Given the description of an element on the screen output the (x, y) to click on. 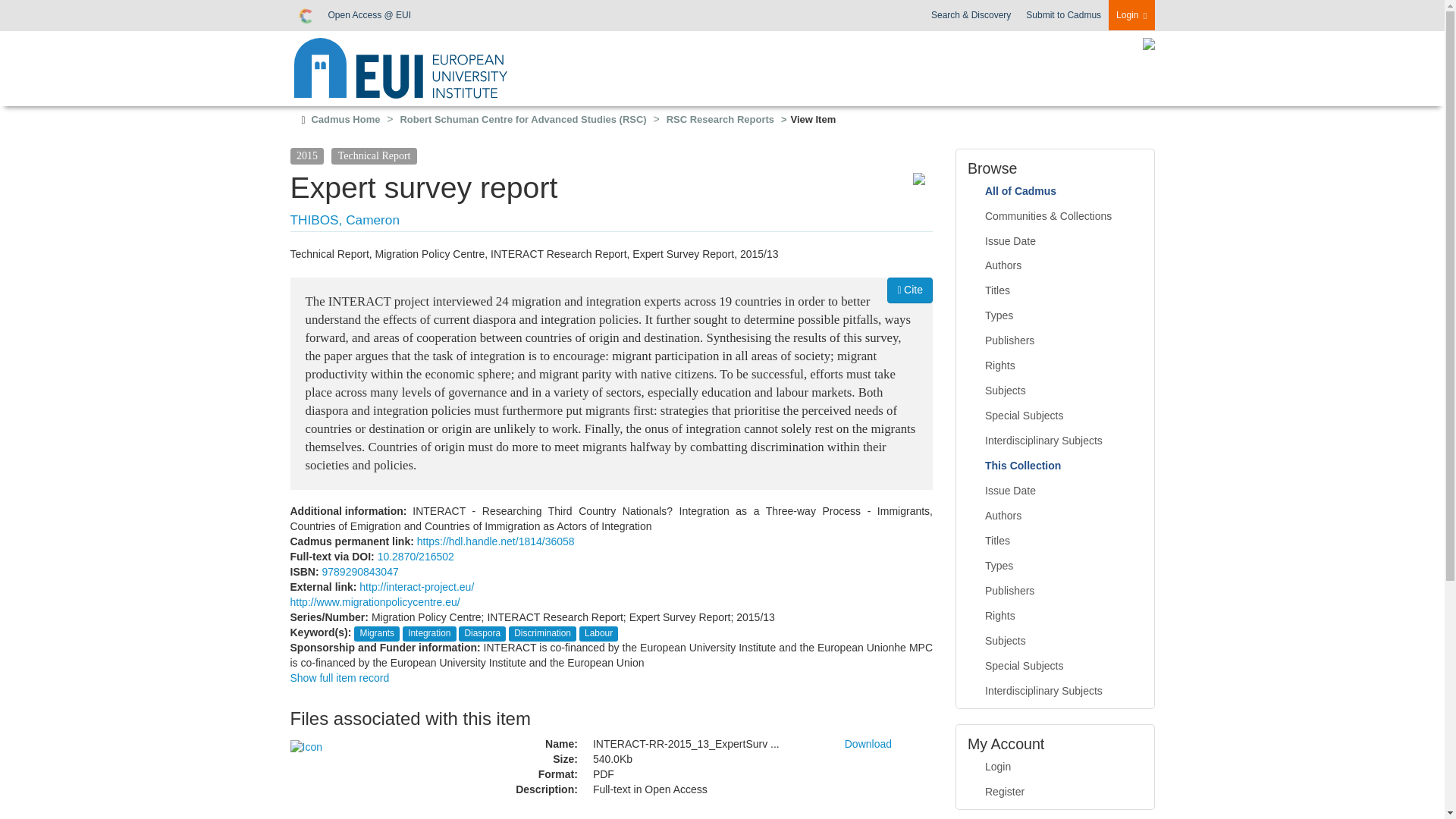
Show full item record (338, 677)
Discrimination (541, 633)
Download (867, 743)
Submit to Cadmus (1062, 15)
Login  (1131, 15)
THIBOS, Cameron (343, 219)
Titles (1055, 290)
Issue Date (1055, 241)
Authors (1055, 266)
9789290843047 (359, 571)
Integration (428, 633)
Migrants (376, 633)
Full-text in Open Access (707, 789)
Diaspora (482, 633)
Technical Report (373, 155)
